Given the description of an element on the screen output the (x, y) to click on. 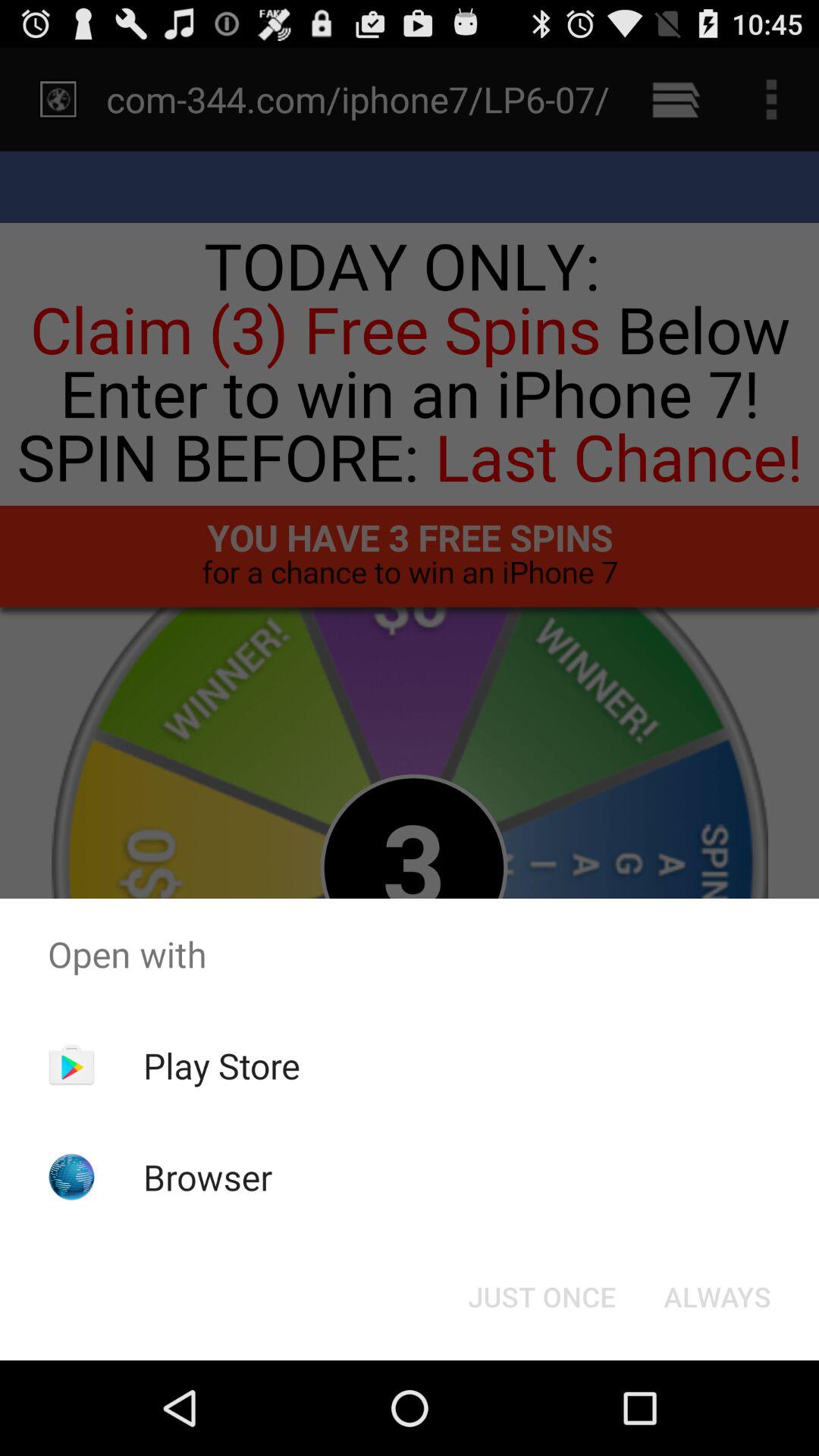
click icon below open with (717, 1296)
